Given the description of an element on the screen output the (x, y) to click on. 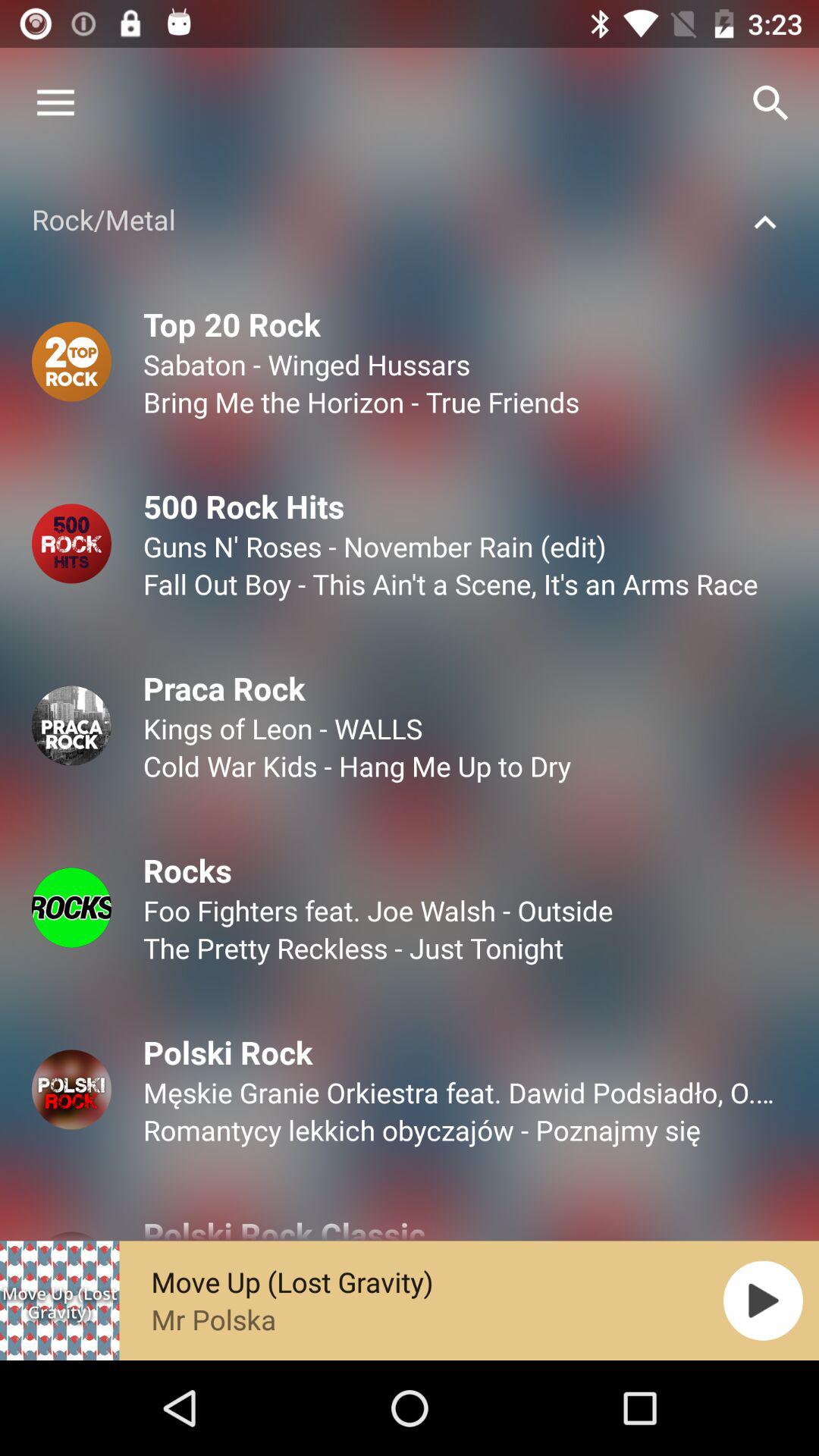
click on search button (771, 103)
icon right to rockmetal text (764, 222)
